Given the description of an element on the screen output the (x, y) to click on. 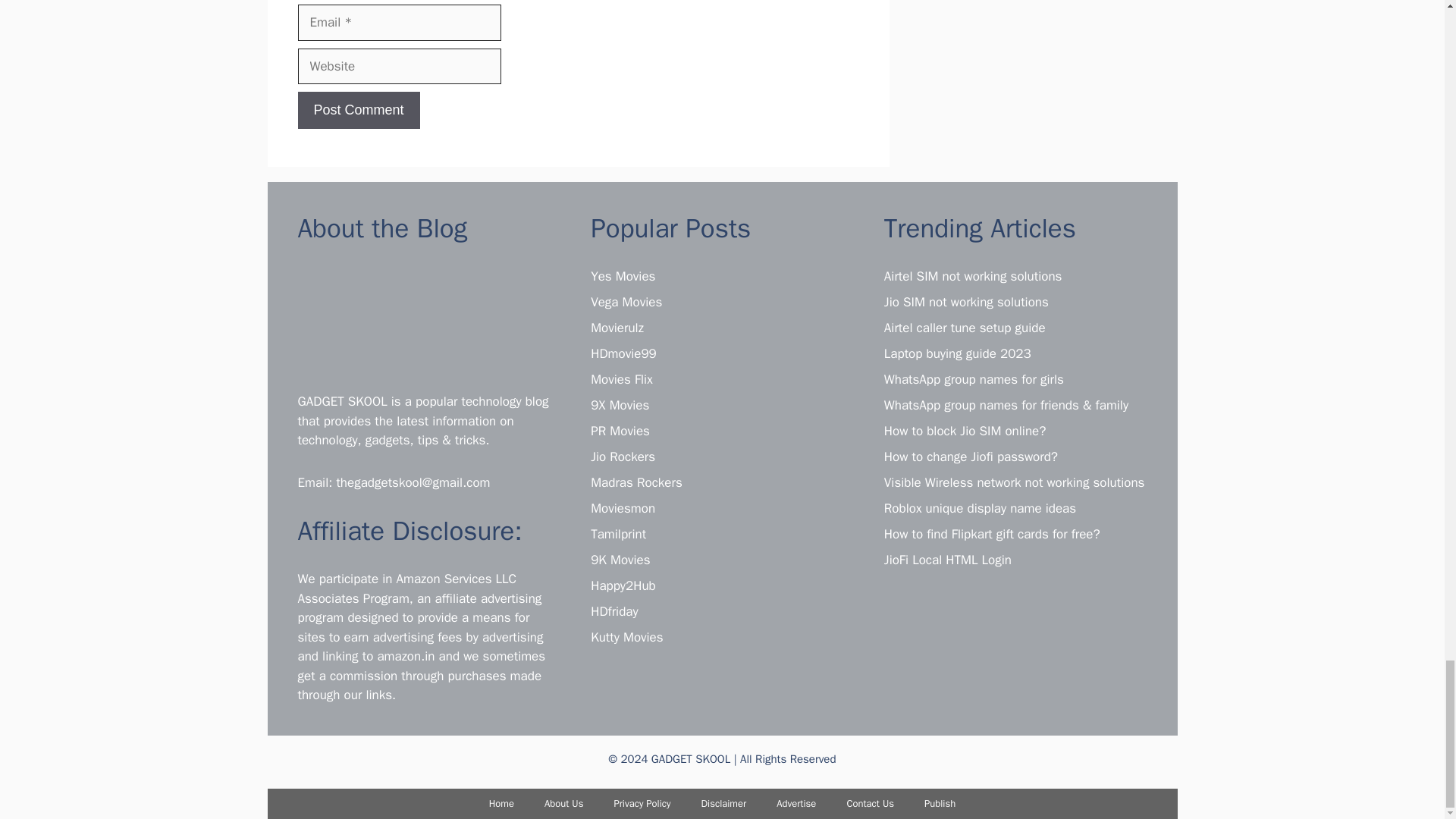
Post Comment (358, 109)
